Given the description of an element on the screen output the (x, y) to click on. 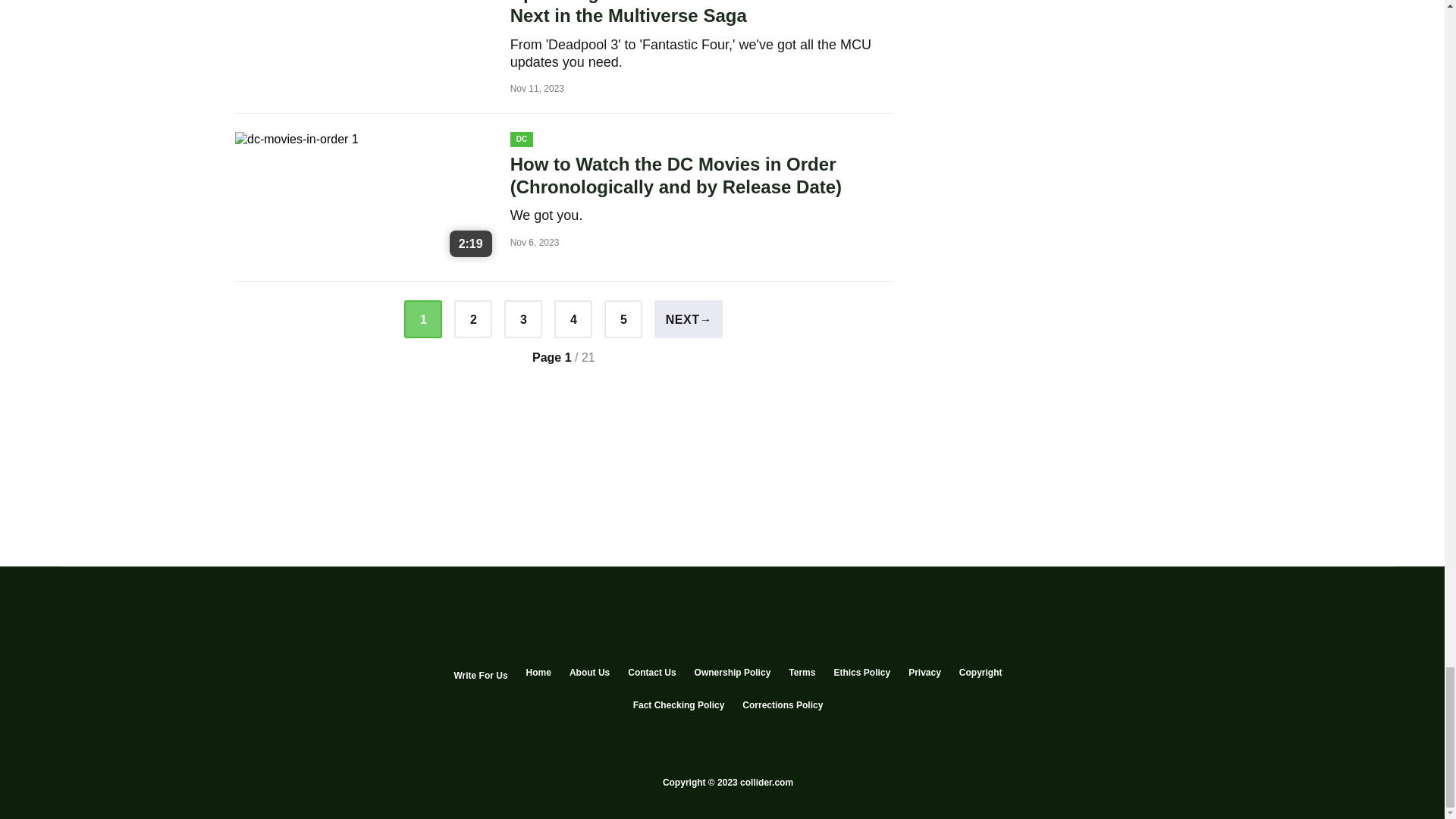
Page 5 (623, 319)
Page 4 (573, 319)
Page 3 (522, 319)
Page 2 (473, 319)
